Given the description of an element on the screen output the (x, y) to click on. 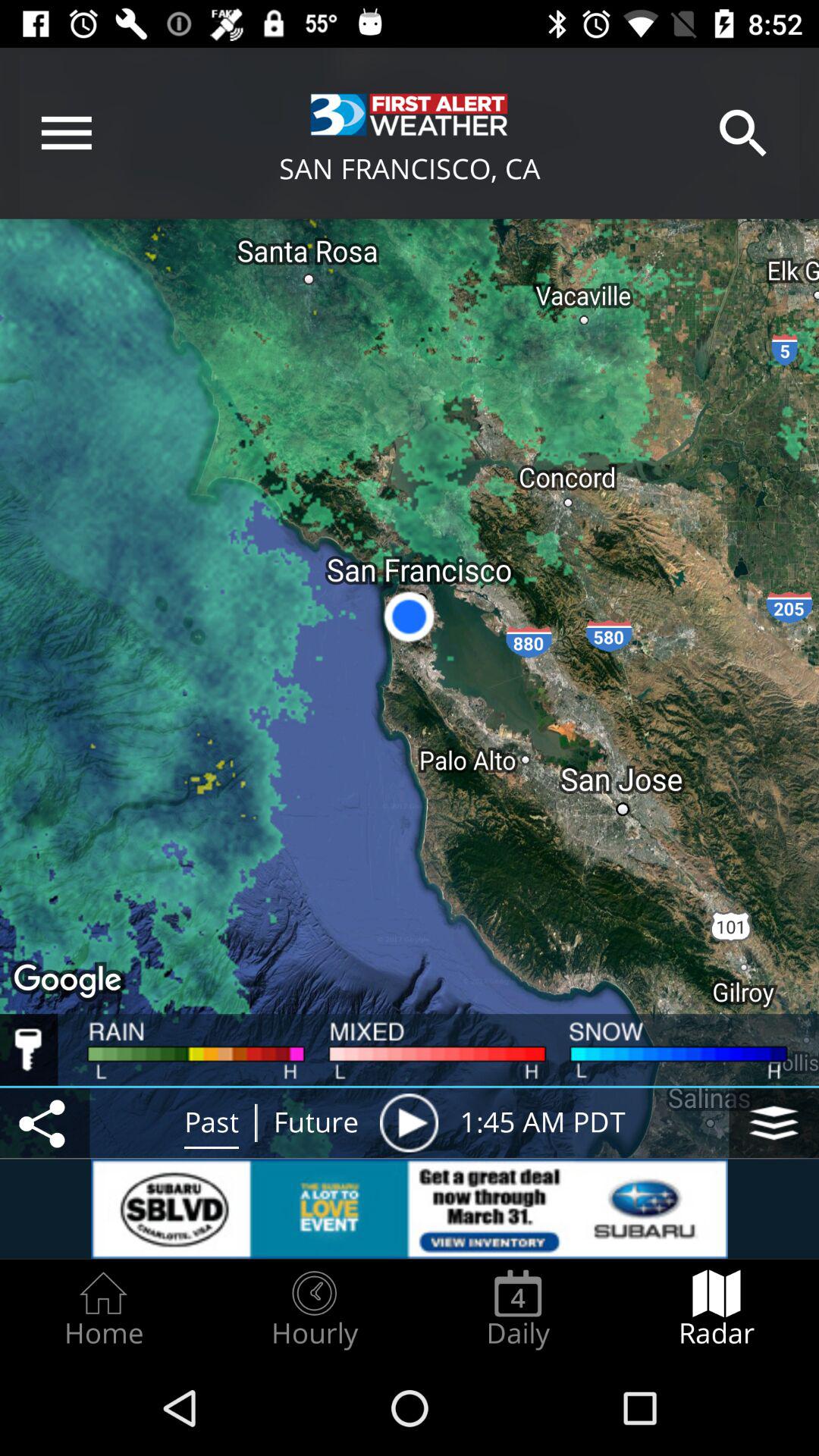
click on past (211, 1123)
go to the future (315, 1123)
click on the search icon (743, 133)
select menu icon (66, 132)
click on the icon next to the play icon (774, 1122)
select the image which is below the notification bar (409, 114)
select the option which is next to the home option (314, 1309)
